Given the description of an element on the screen output the (x, y) to click on. 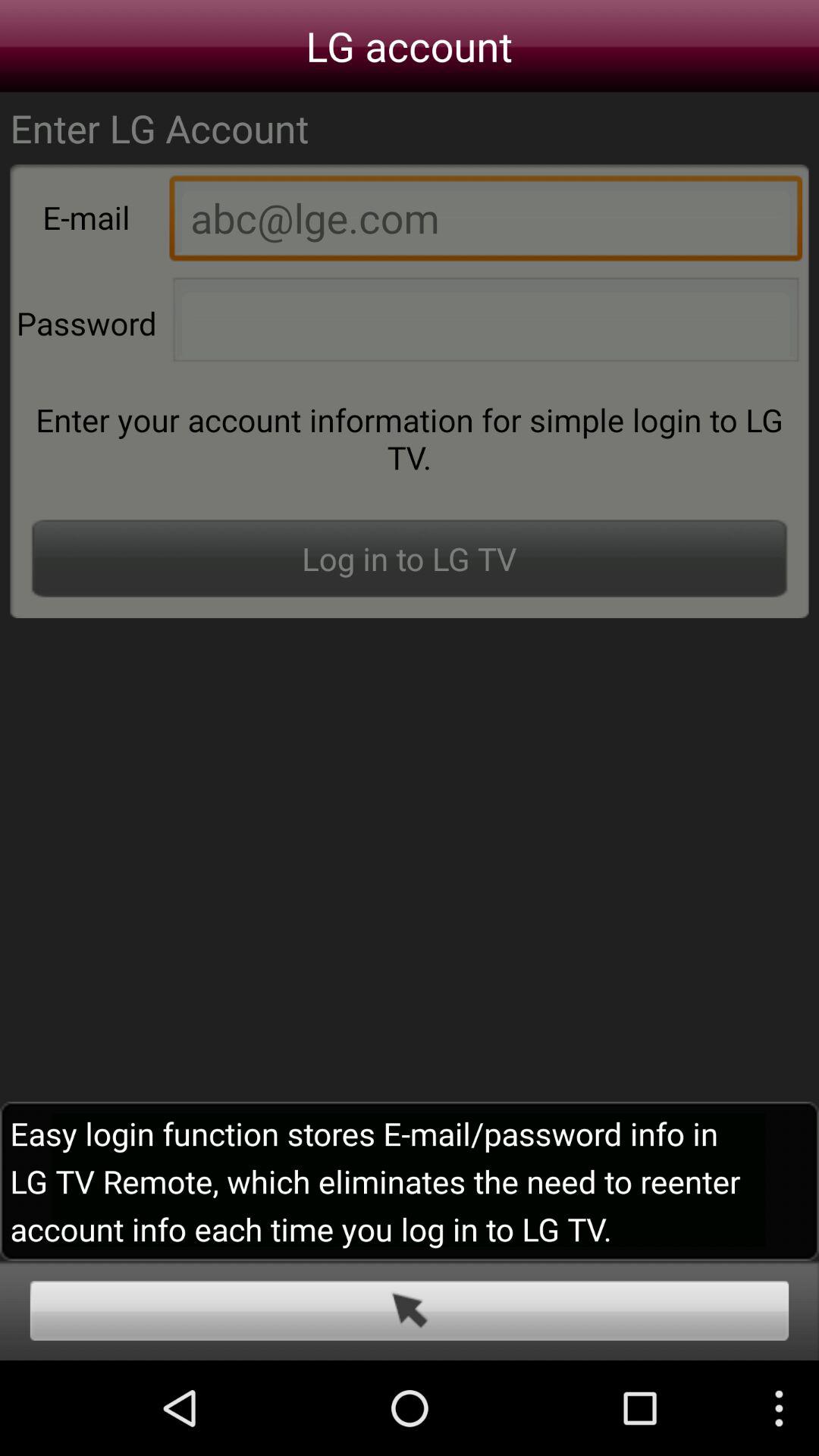
enter the password (485, 323)
